Given the description of an element on the screen output the (x, y) to click on. 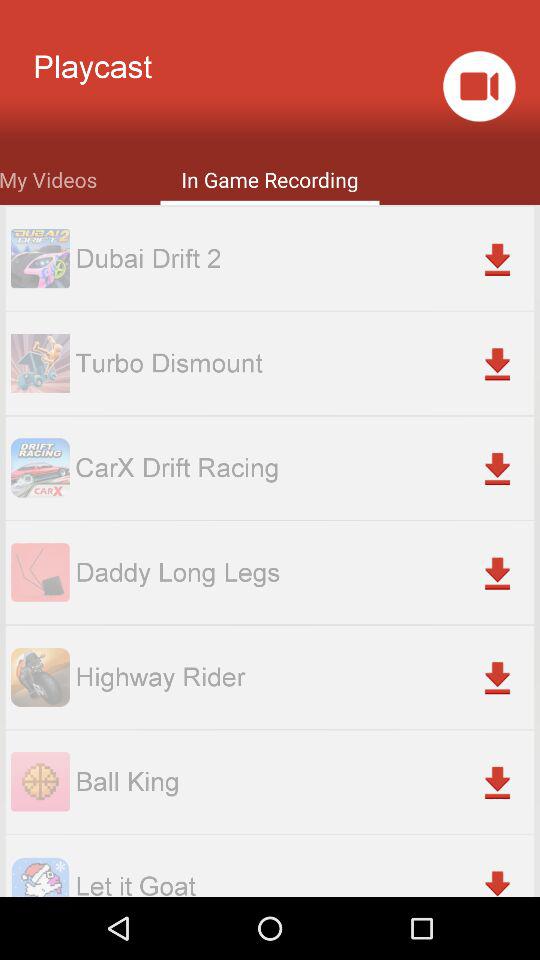
press item below the playcast item (48, 178)
